Given the description of an element on the screen output the (x, y) to click on. 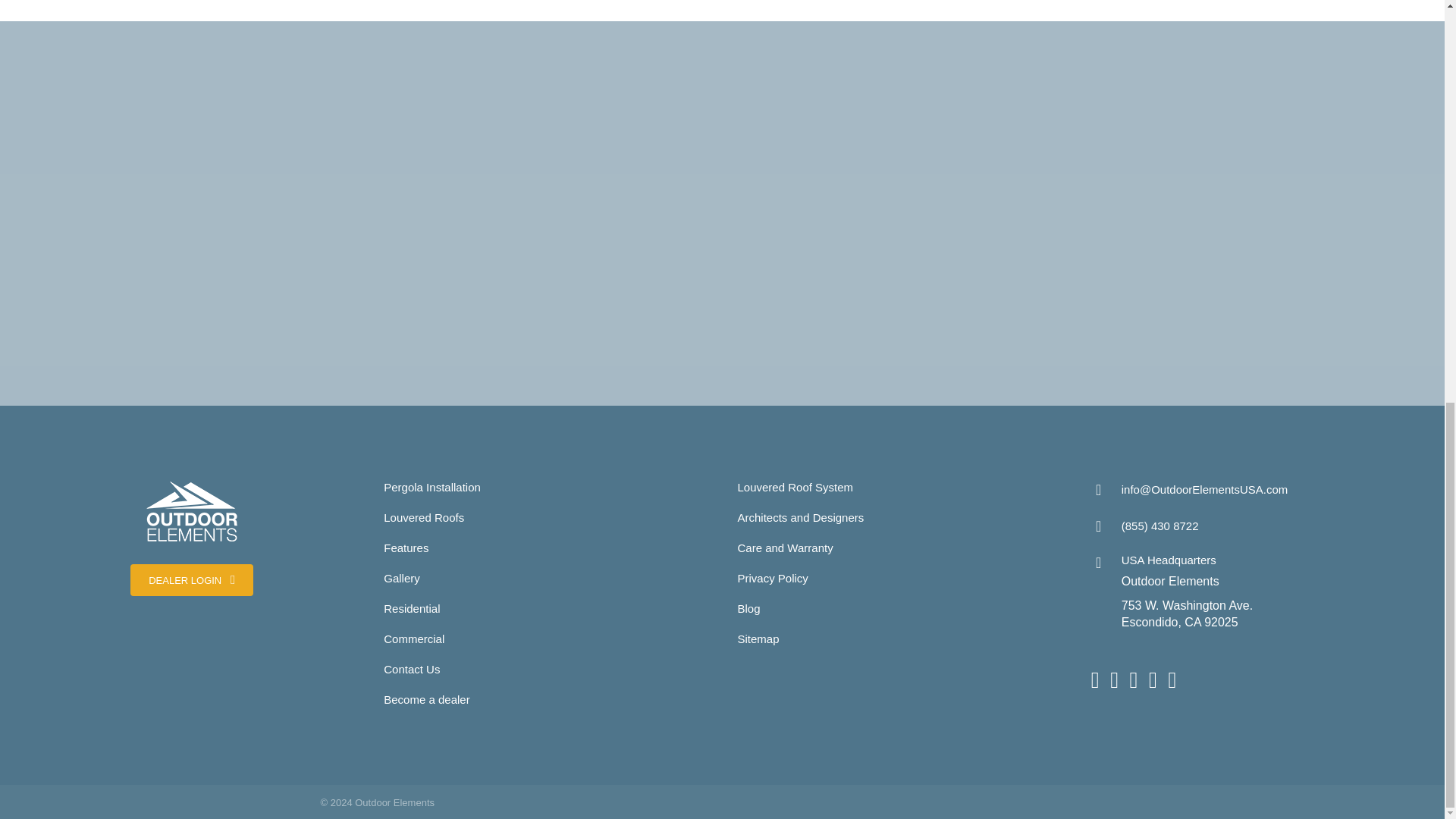
oe-logo-white-optimized (192, 511)
